Given the description of an element on the screen output the (x, y) to click on. 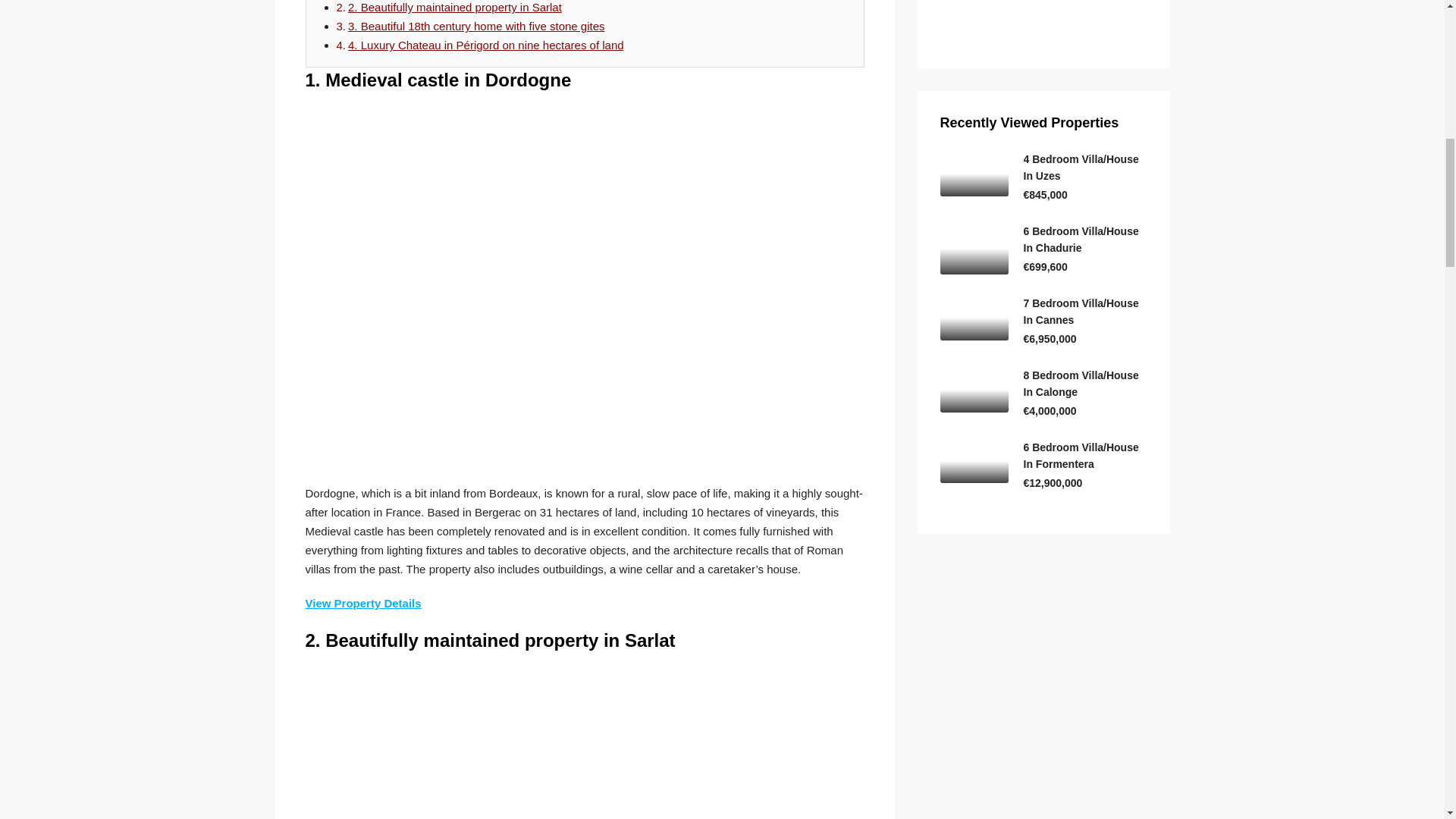
2. Beautifully maintained property in Sarlat (454, 7)
3. Beautiful 18th century home with five stone gites (476, 26)
